Given the description of an element on the screen output the (x, y) to click on. 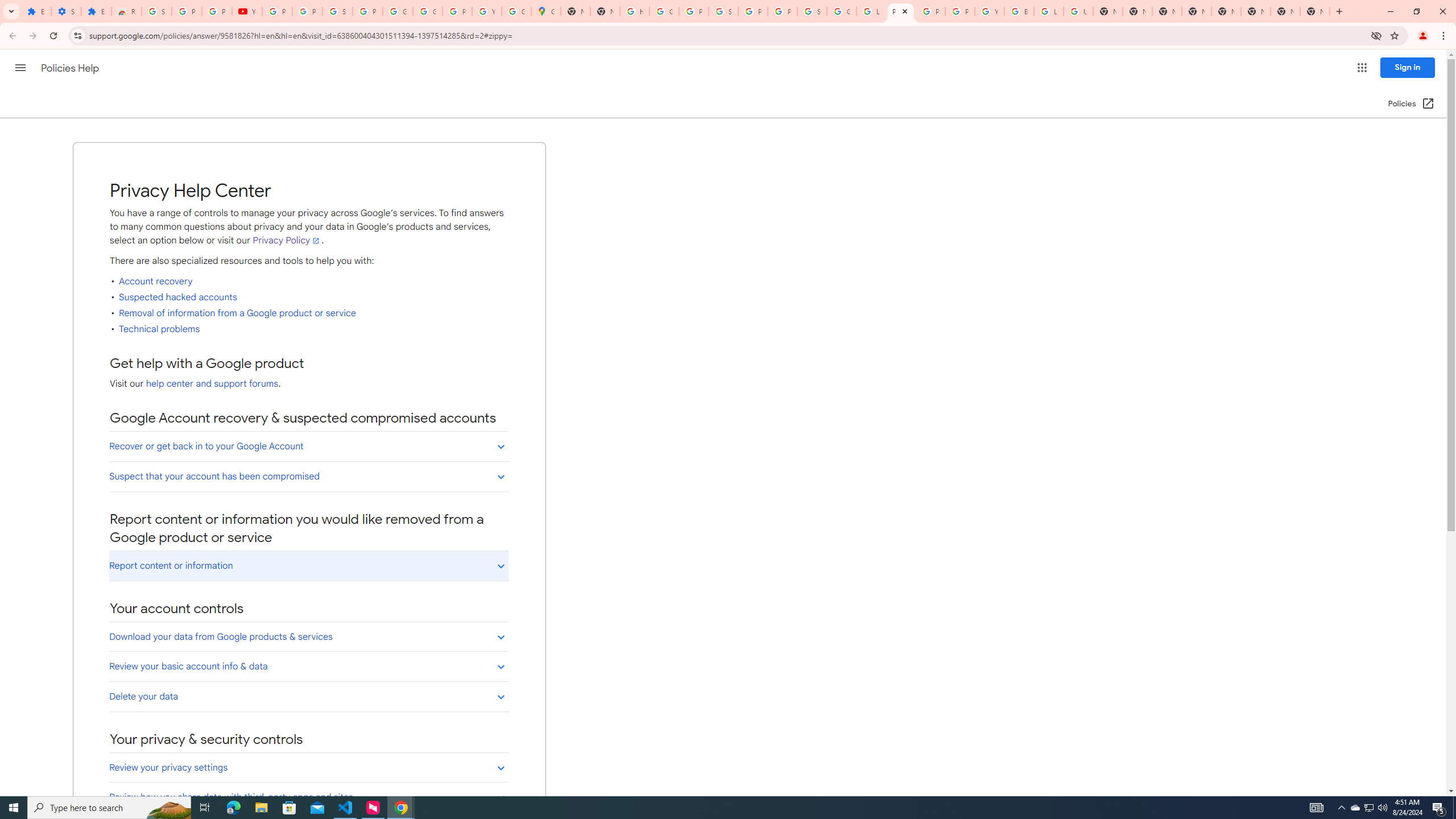
New Tab (1166, 11)
Report content or information (308, 565)
Suspected hacked accounts (178, 297)
YouTube (486, 11)
Review how you share data with third-party apps and sites (308, 797)
Sign in (1407, 67)
https://scholar.google.com/ (634, 11)
Technical problems (159, 328)
